Given the description of an element on the screen output the (x, y) to click on. 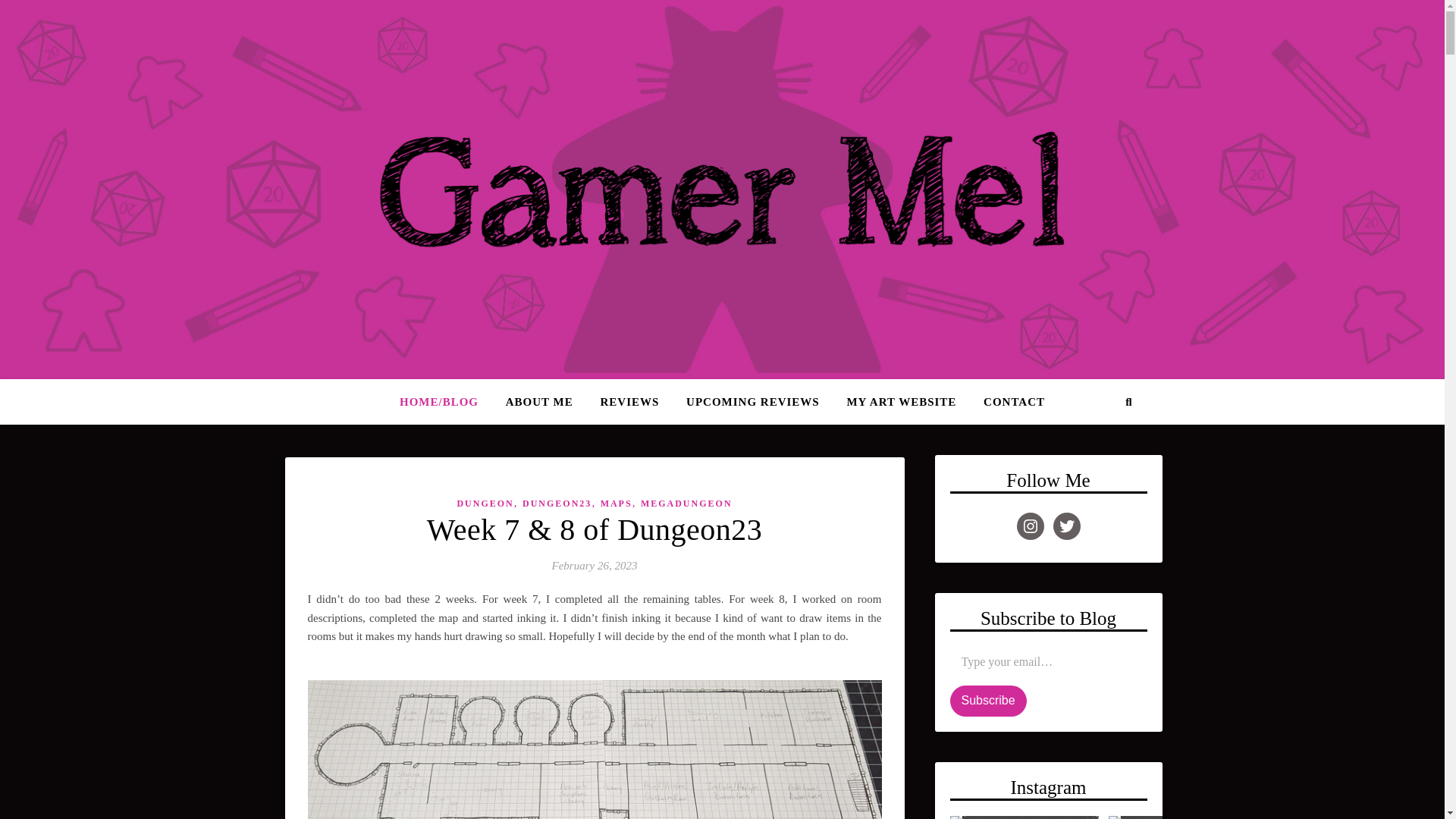
UPCOMING REVIEWS (752, 402)
MEGADUNGEON (686, 503)
DUNGEON (485, 503)
MY ART WEBSITE (901, 402)
DUNGEON23 (556, 503)
ABOUT ME (539, 402)
MAPS (615, 503)
REVIEWS (629, 402)
CONTACT (1008, 402)
